Given the description of an element on the screen output the (x, y) to click on. 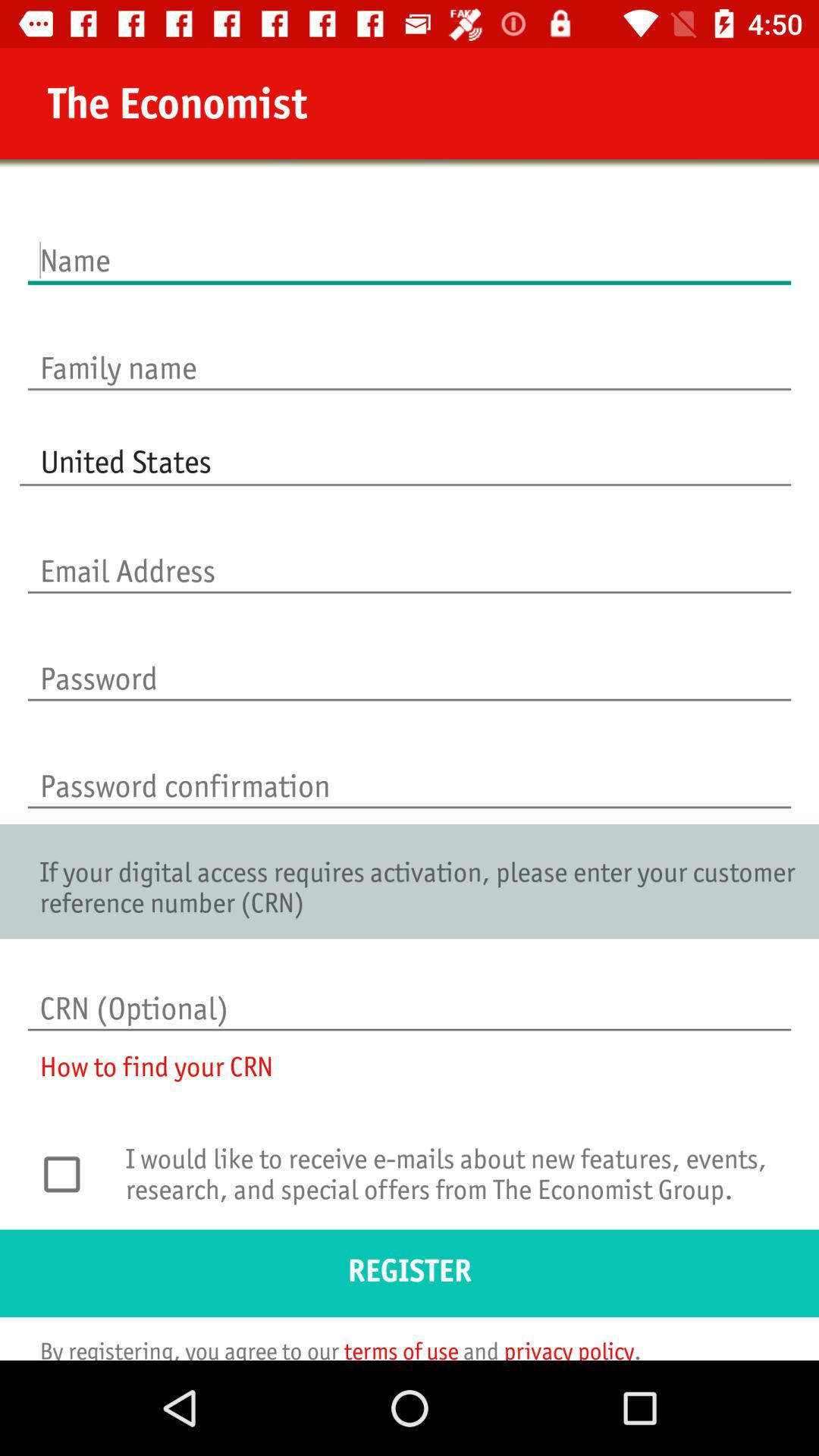
flip to the how to find (146, 1076)
